Given the description of an element on the screen output the (x, y) to click on. 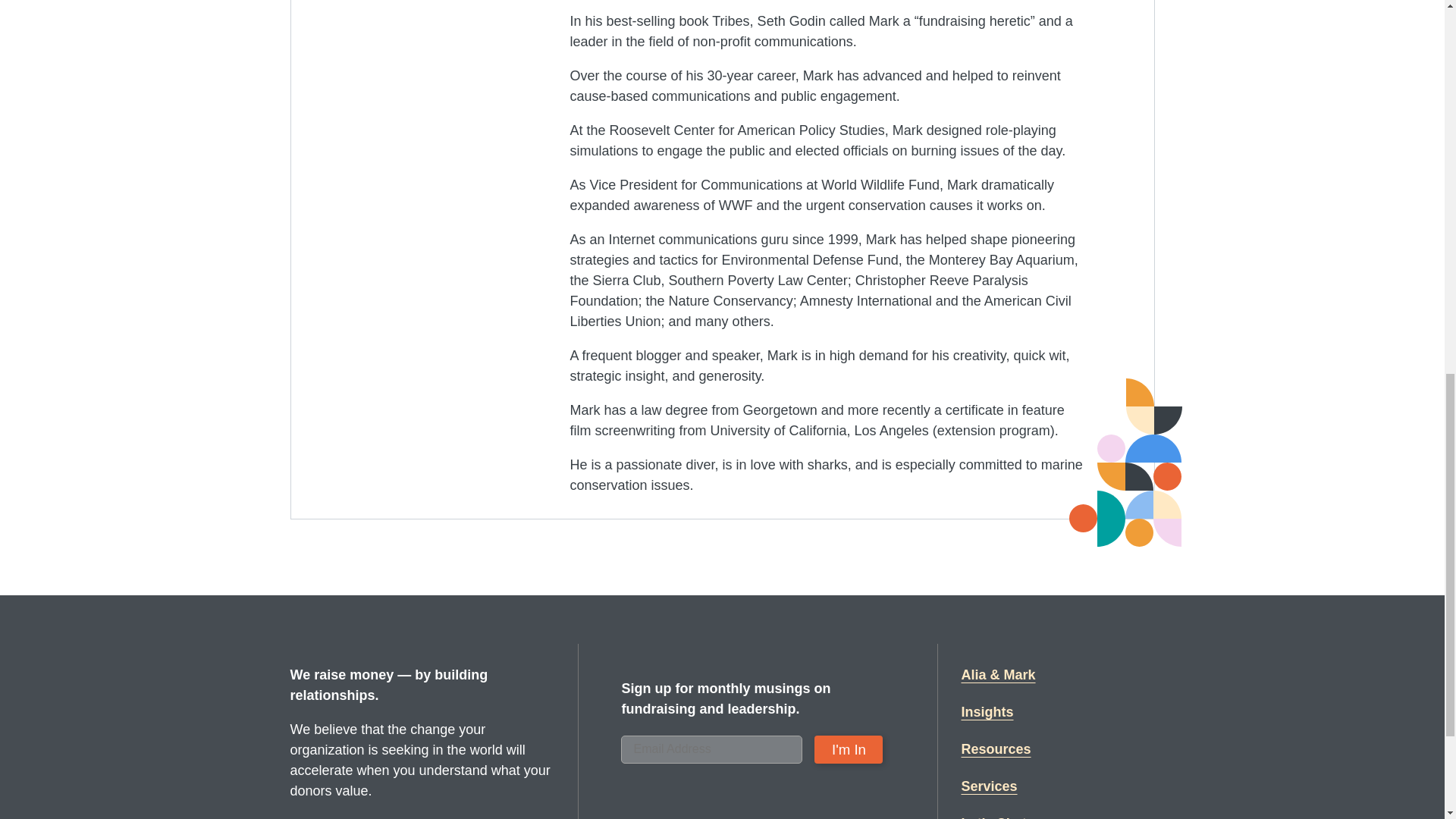
Insights (986, 711)
I'm In (847, 749)
I'm In (847, 749)
Resources (995, 749)
Services (988, 786)
